Given the description of an element on the screen output the (x, y) to click on. 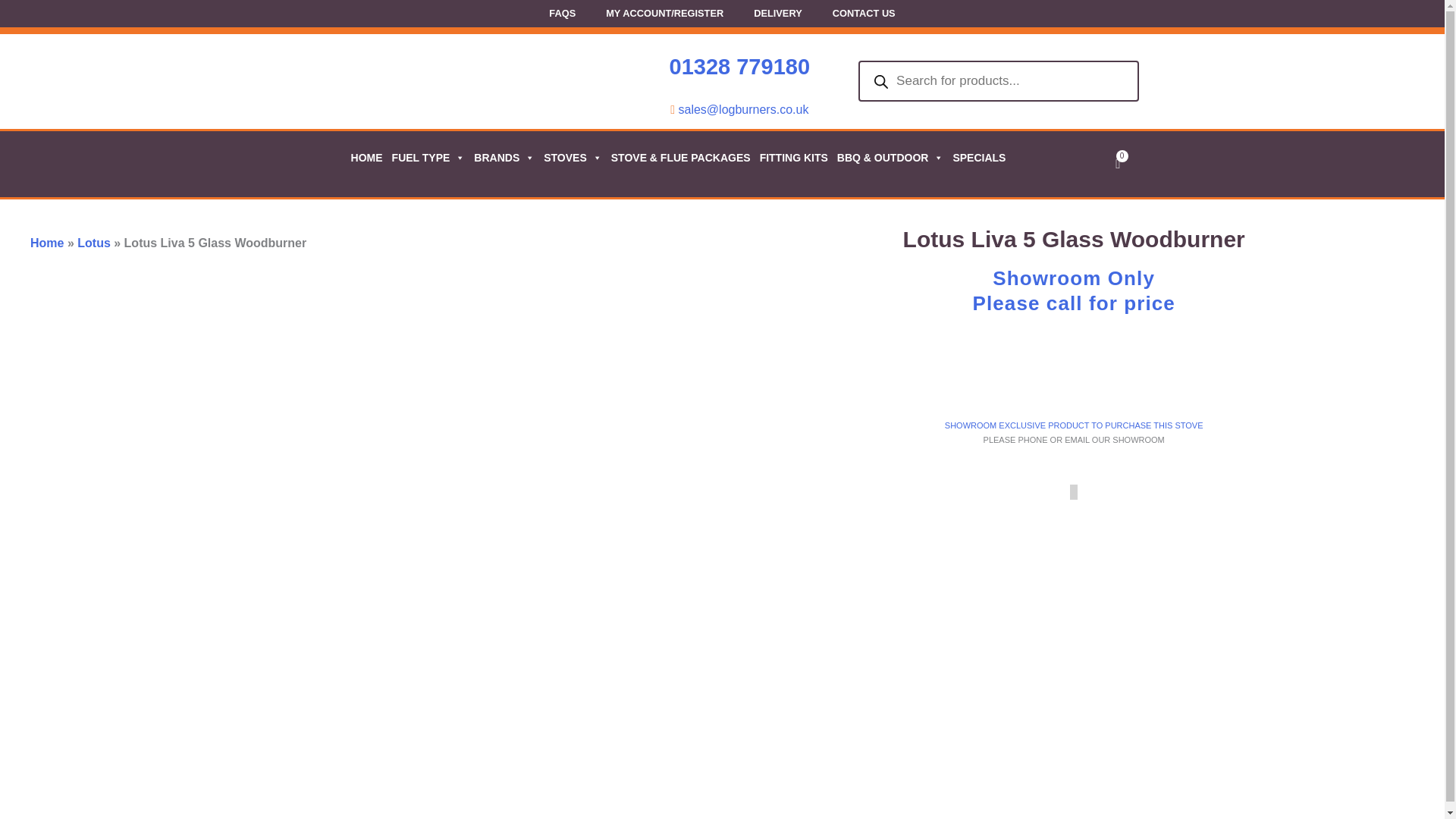
CONTACT US (863, 15)
View brand (1265, 375)
01328 779180 (739, 66)
HOME (365, 157)
DELIVERY (777, 15)
BRANDS (502, 157)
FAQS (562, 15)
FUEL TYPE (427, 157)
